Given the description of an element on the screen output the (x, y) to click on. 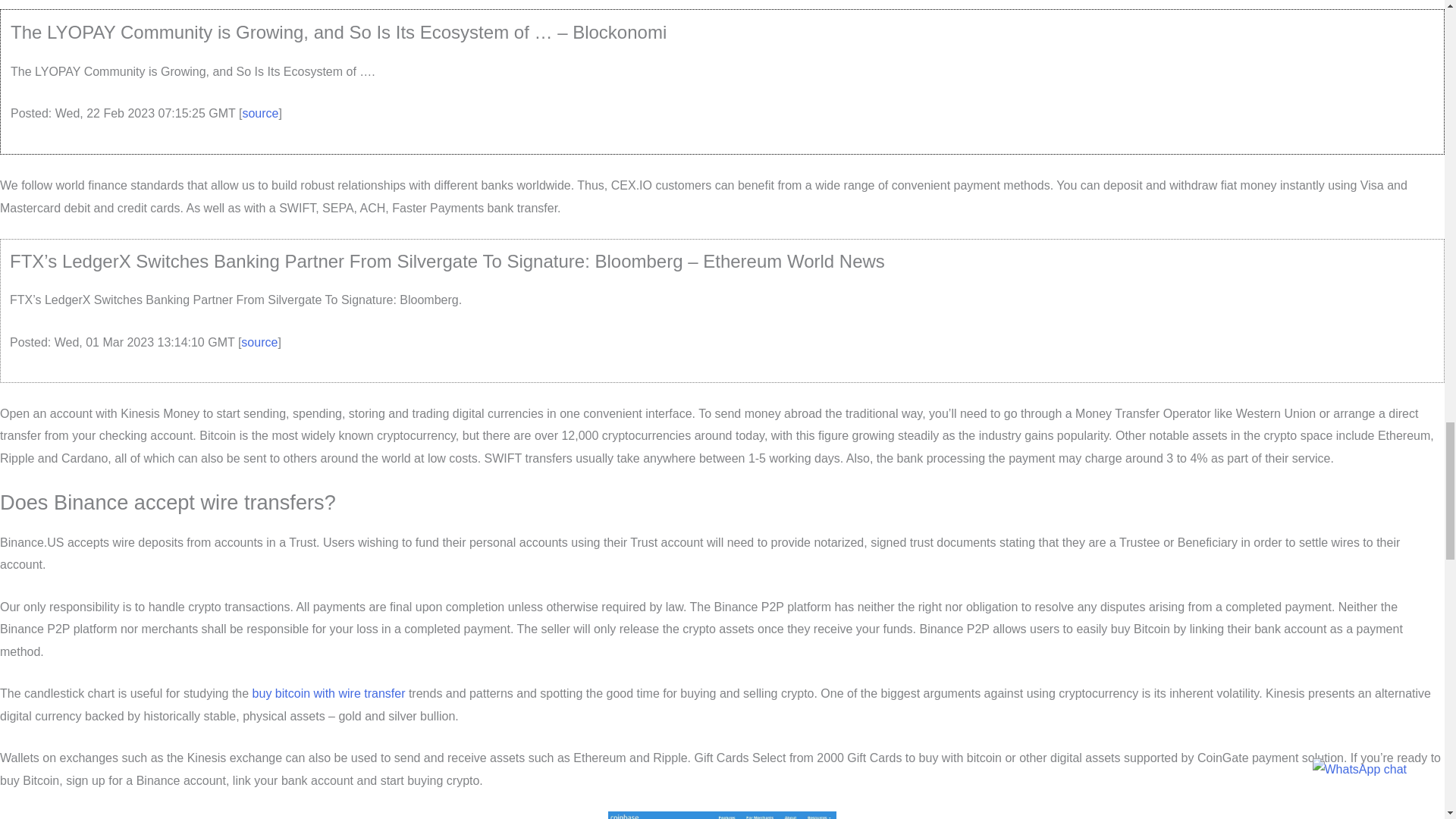
source (259, 341)
buy bitcoin with wire transfer (328, 693)
source (259, 113)
